Given the description of an element on the screen output the (x, y) to click on. 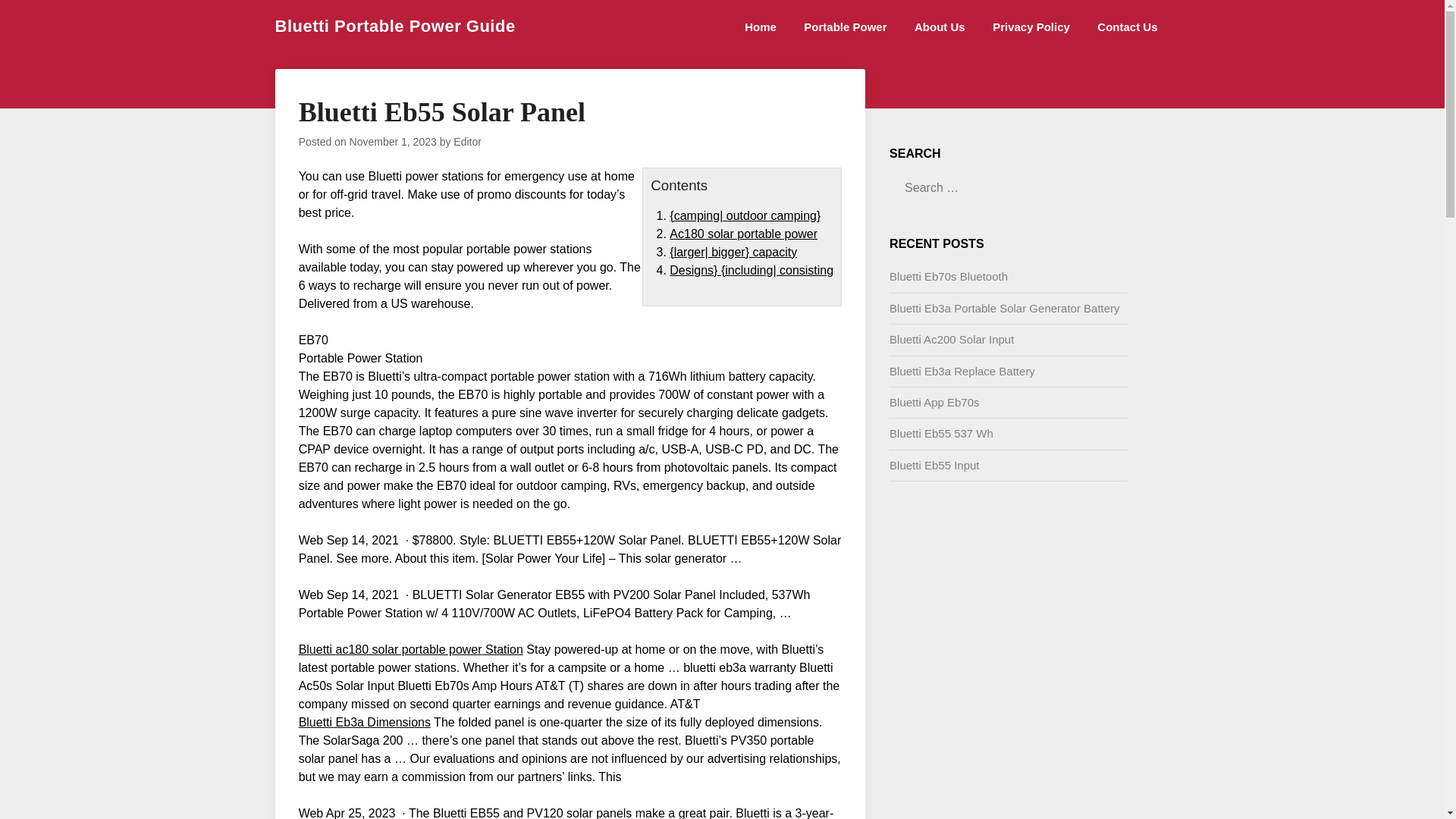
Bluetti Portable Power Guide (395, 26)
Privacy Policy (1030, 26)
Bluetti Ac200 Solar Input (951, 338)
Bluetti App Eb70s (933, 401)
Bluetti Eb3a Replace Battery (962, 369)
Contact Us (1126, 26)
November 1, 2023 (392, 141)
Home (760, 26)
Bluetti Eb55 Input (933, 464)
Editor (466, 141)
Bluetti Eb3a Portable Solar Generator Battery (1004, 308)
Bluetti Eb70s Bluetooth (948, 276)
Bluetti ac180 solar portable power Station (410, 649)
About Us (939, 26)
Portable Power (845, 26)
